Given the description of an element on the screen output the (x, y) to click on. 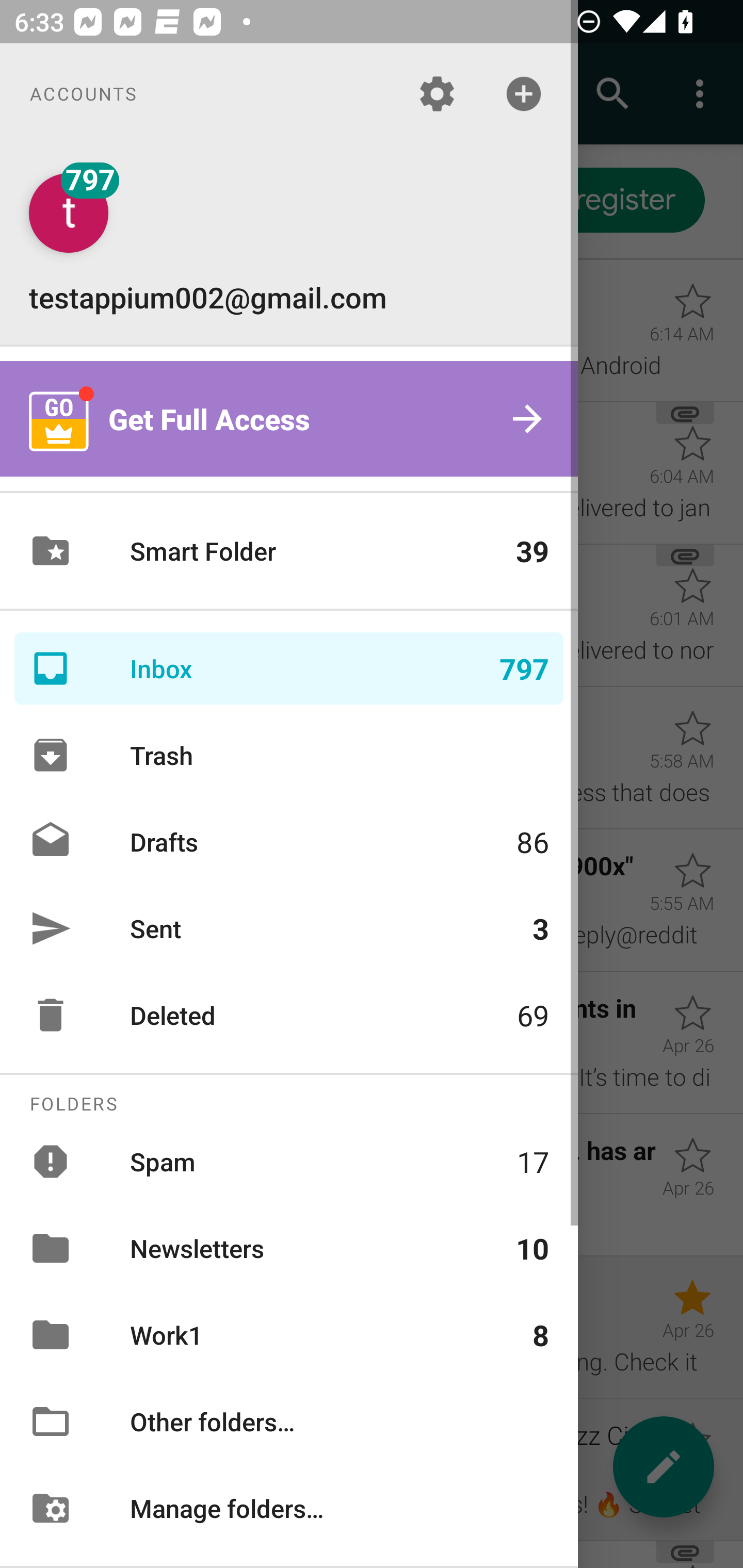
testappium002@gmail.com (289, 244)
Get Full Access (289, 418)
Smart Folder 39 (289, 551)
Inbox 797 (289, 668)
Trash (289, 754)
Drafts 86 (289, 841)
Sent 3 (289, 928)
Deleted 69 (289, 1015)
Spam 17 (289, 1160)
Newsletters 10 (289, 1248)
Work1 8 (289, 1335)
Other folders… (289, 1421)
Manage folders… (289, 1507)
